Given the description of an element on the screen output the (x, y) to click on. 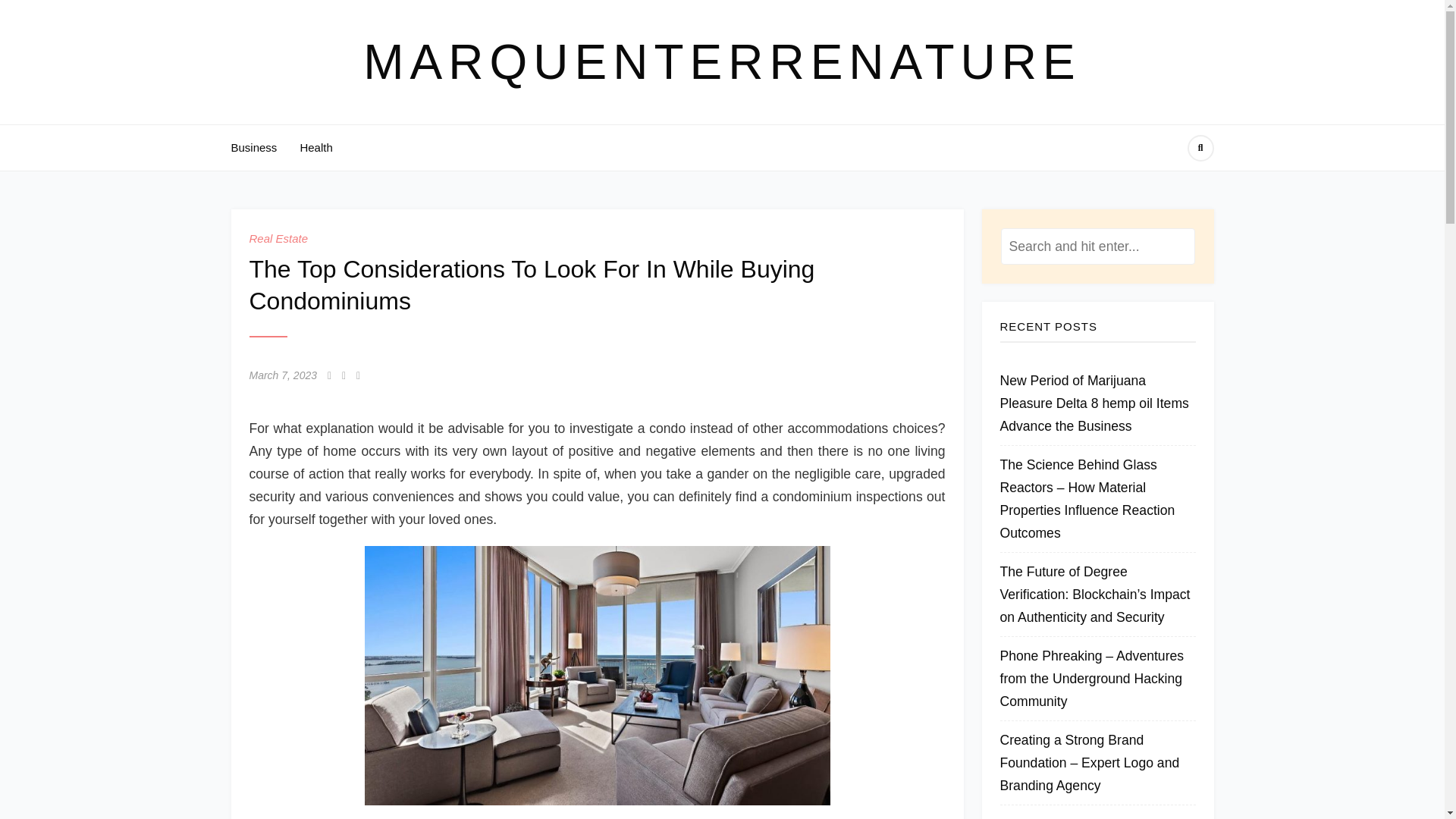
Real Estate (277, 237)
March 7, 2023 (282, 375)
MARQUENTERRENATURE (721, 61)
Business (253, 147)
